Given the description of an element on the screen output the (x, y) to click on. 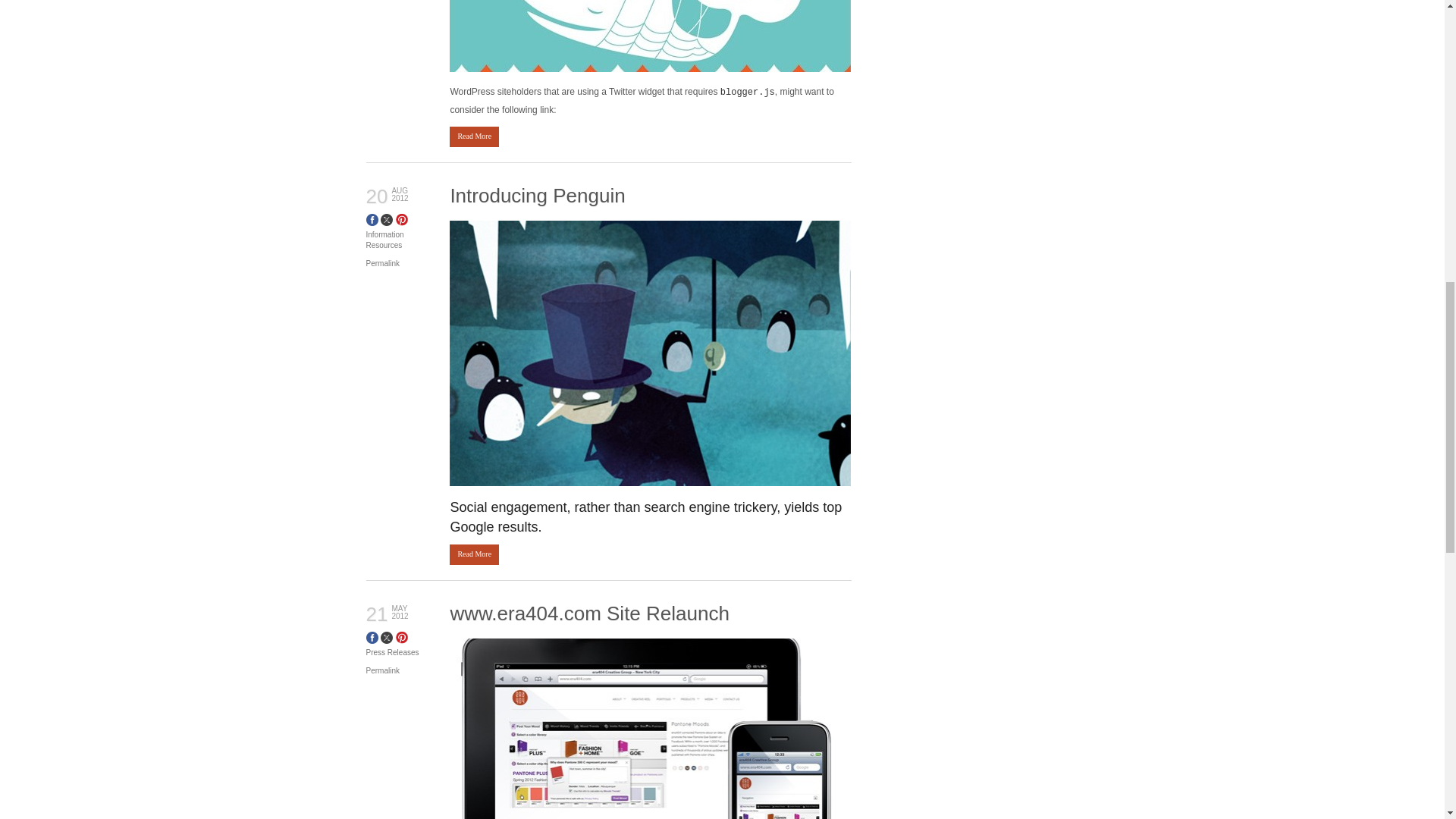
Share on Facebook (371, 222)
